Given the description of an element on the screen output the (x, y) to click on. 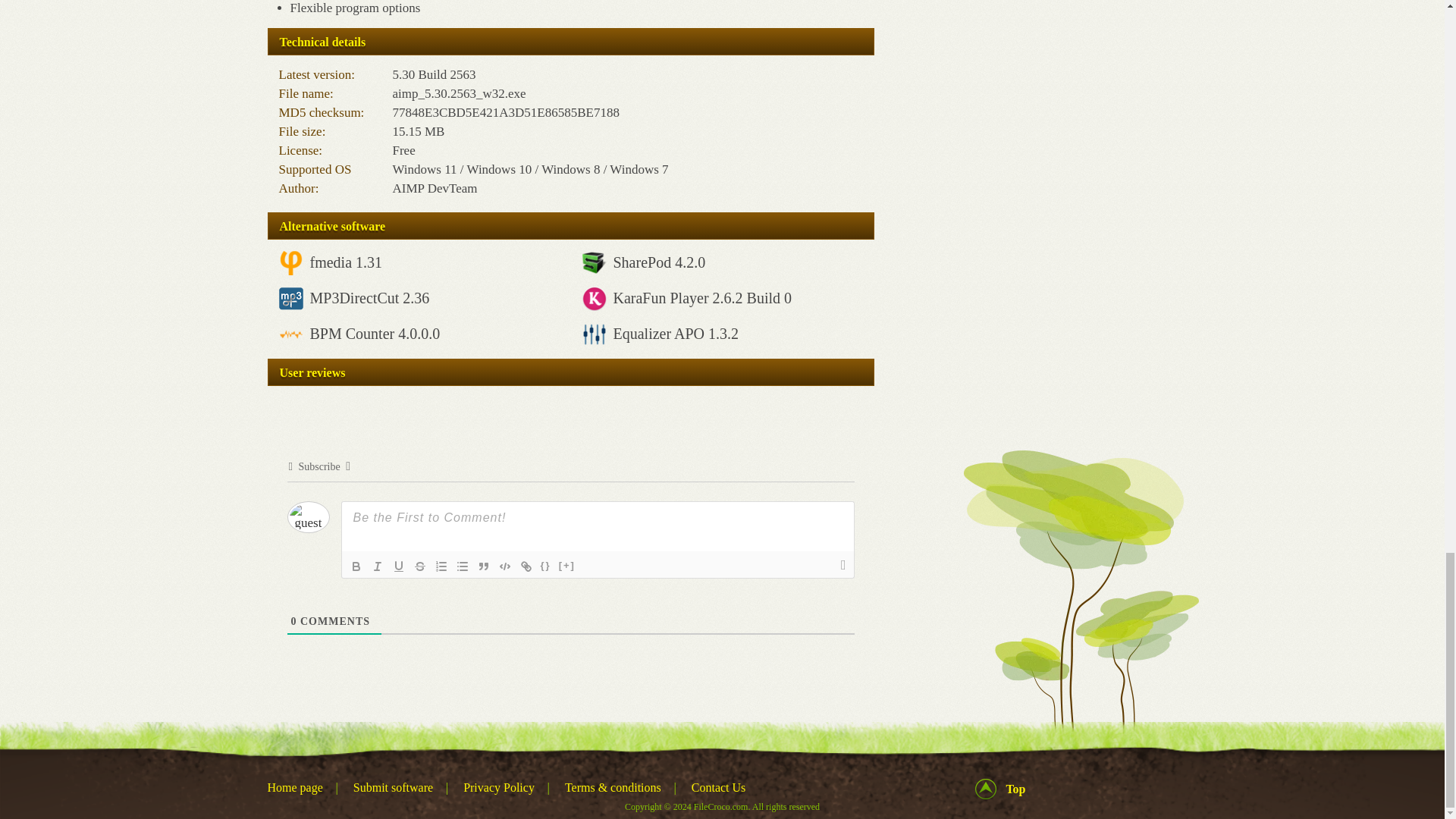
Blockquote (484, 566)
MP3DirectCut 2.36 (368, 297)
Equalizer APO 1.3.2 (675, 333)
bullet (462, 566)
Link (526, 566)
fmedia 1.31 (344, 262)
Unordered List (462, 566)
Code Block (505, 566)
AIMP DevTeam (435, 187)
Bold (356, 566)
